Given the description of an element on the screen output the (x, y) to click on. 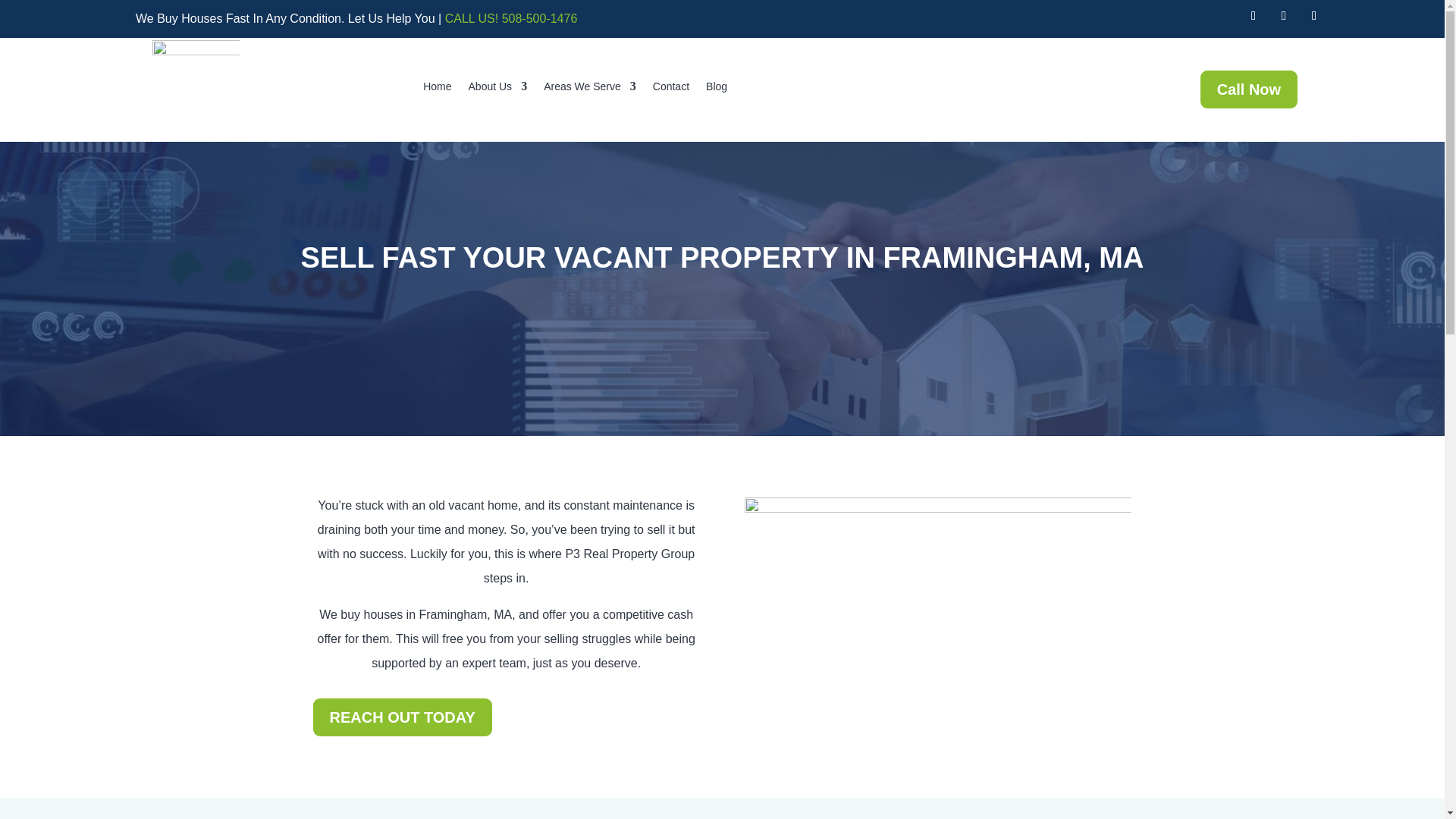
Areas We Serve (589, 89)
Follow on Facebook (1253, 15)
Home (437, 89)
About Us (497, 89)
Blog (716, 89)
ImgHeroAreaServeFix1 (937, 594)
508-500-1476 (540, 18)
Call Now (1248, 89)
Follow on X (1283, 15)
Follow on LinkedIn (1313, 15)
Contact (670, 89)
